Given the description of an element on the screen output the (x, y) to click on. 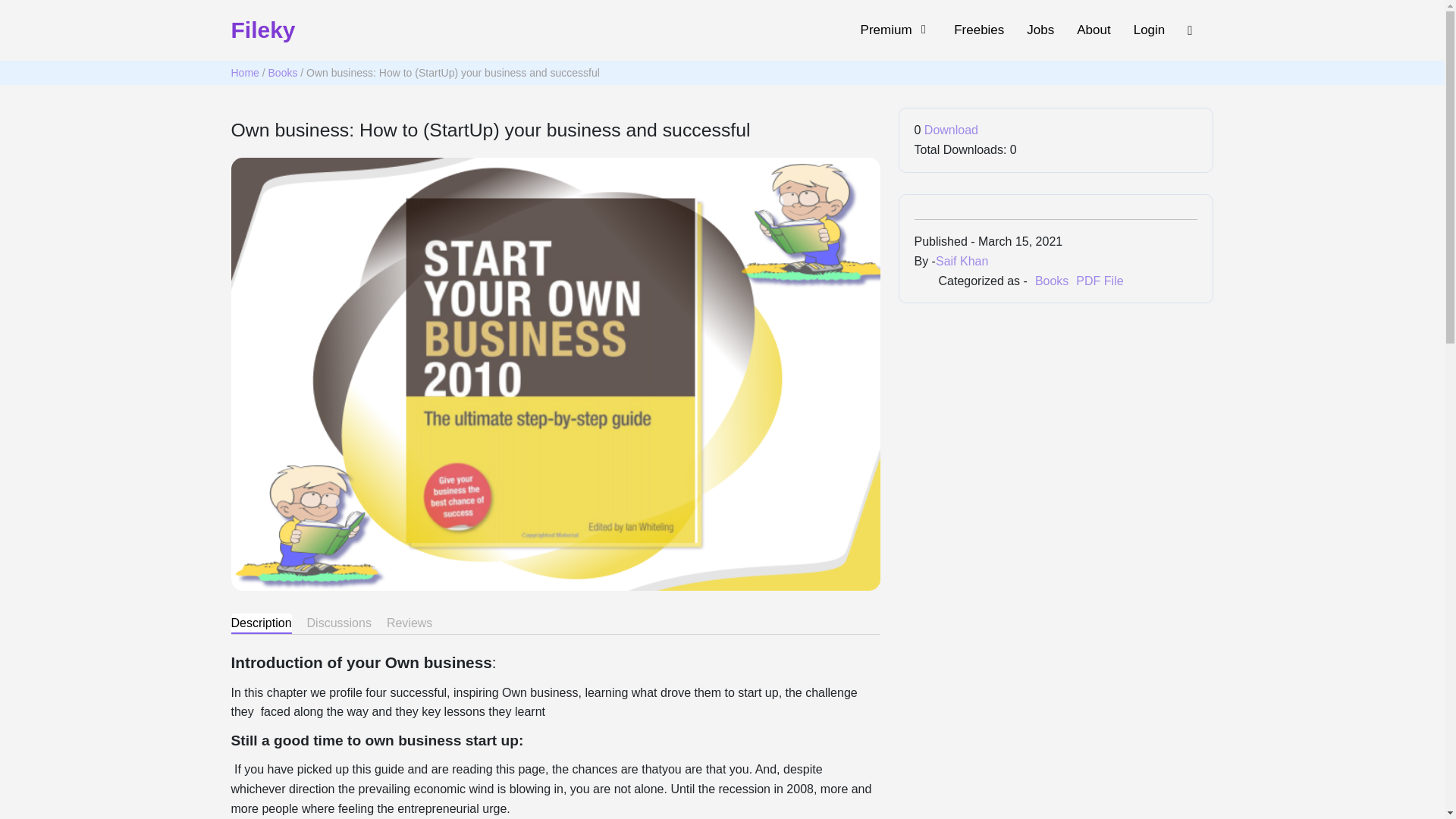
Discussions (339, 623)
Premium (895, 29)
Description (260, 623)
Login (967, 30)
Freebies (1150, 29)
Books (978, 29)
Reviews (1051, 280)
Download (409, 623)
Home (951, 129)
About (244, 72)
Books (1093, 29)
PDF File (282, 72)
Fileky (1098, 280)
